Given the description of an element on the screen output the (x, y) to click on. 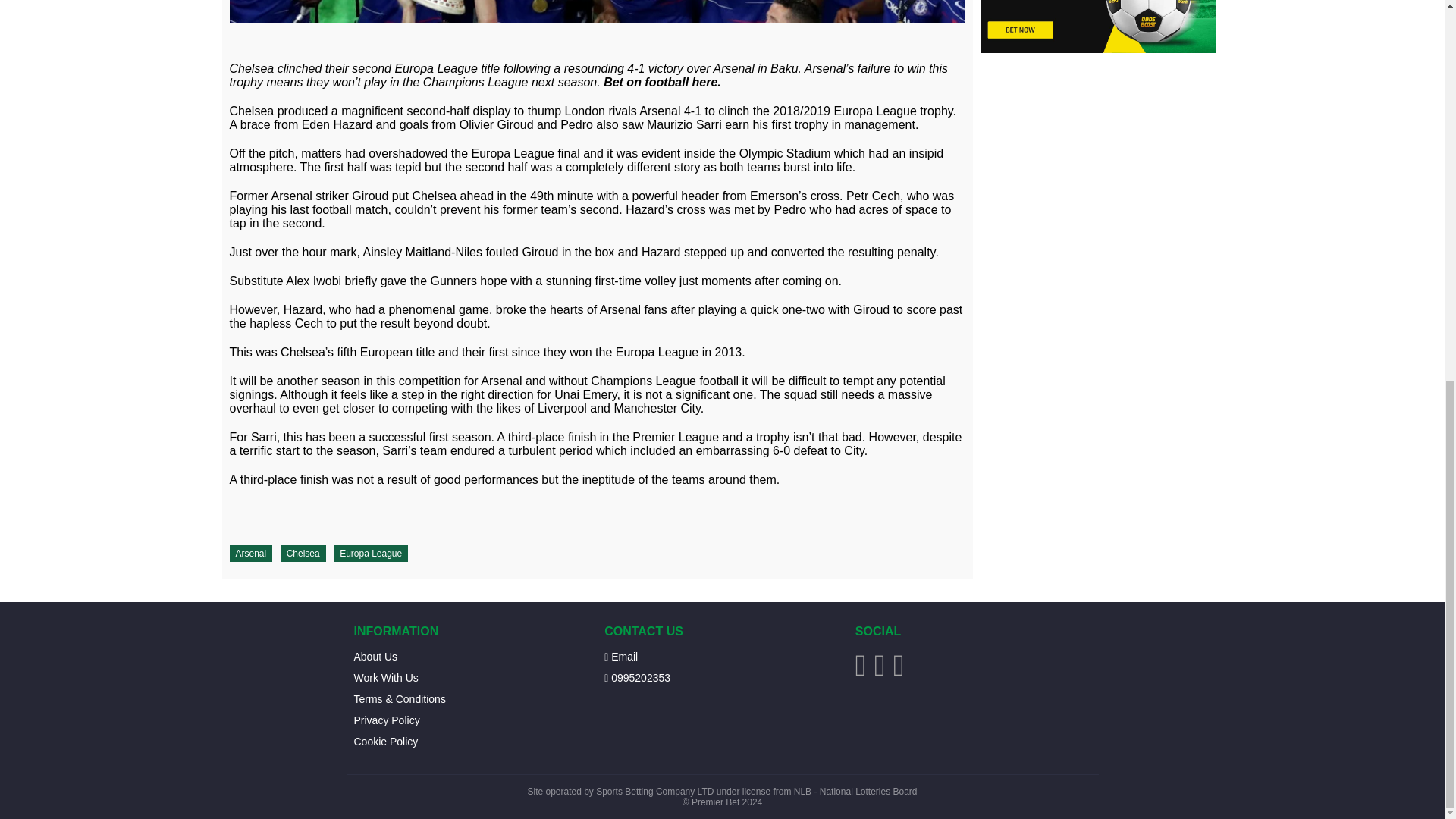
Privacy Policy (386, 719)
Europa League Final - Chelsea v Arsenal (595, 11)
Cookie Policy (385, 740)
Arsenal (250, 553)
0995202353 (636, 676)
About Us (375, 655)
Chelsea (303, 553)
Email (620, 655)
Work With Us (385, 676)
Bet on football here. (662, 82)
